Given the description of an element on the screen output the (x, y) to click on. 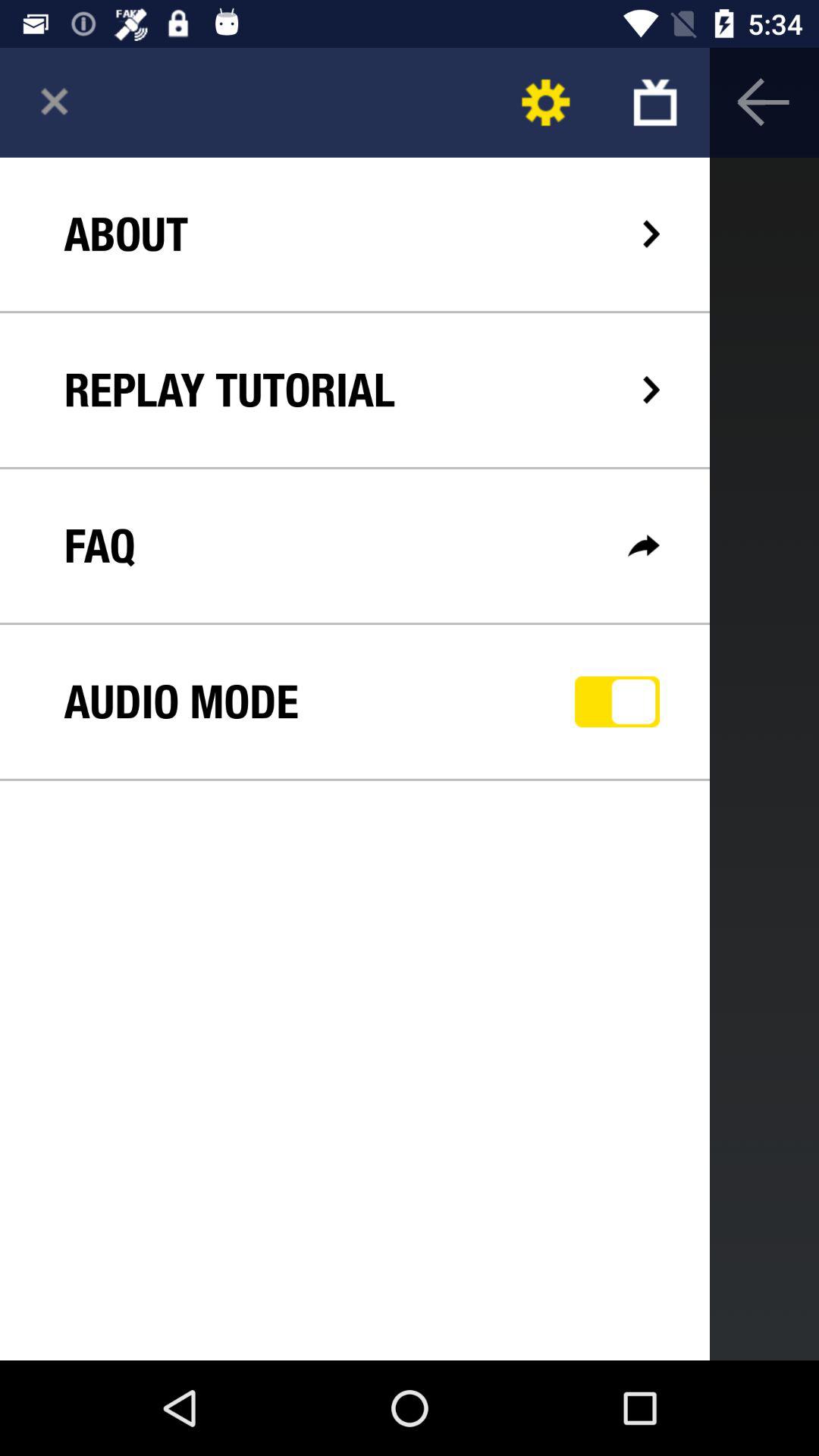
tap item to the right of the audio mode app (617, 701)
